Given the description of an element on the screen output the (x, y) to click on. 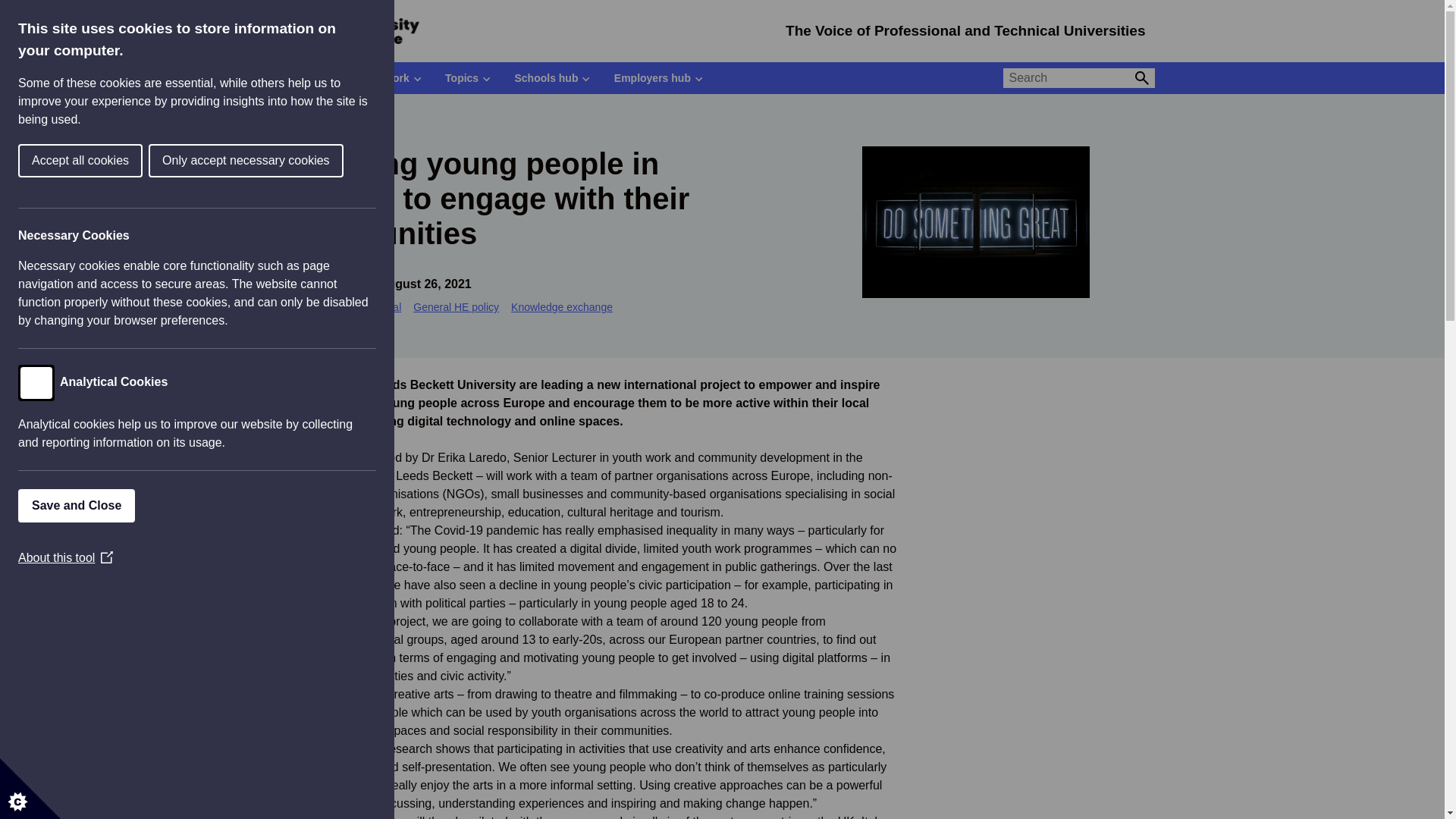
Go to University Alliance. (303, 119)
Our work (391, 78)
About (316, 78)
Topics (467, 78)
